Given the description of an element on the screen output the (x, y) to click on. 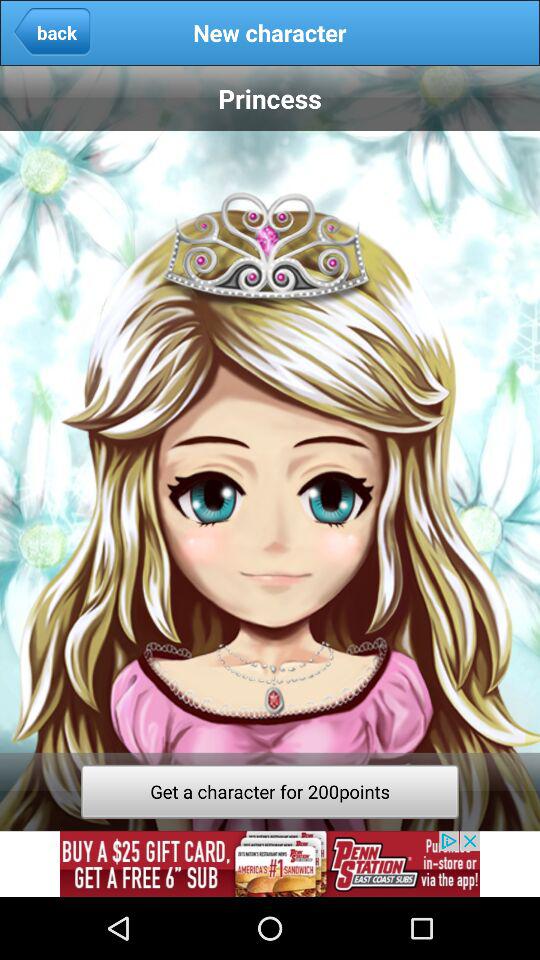
add the picture (270, 864)
